Given the description of an element on the screen output the (x, y) to click on. 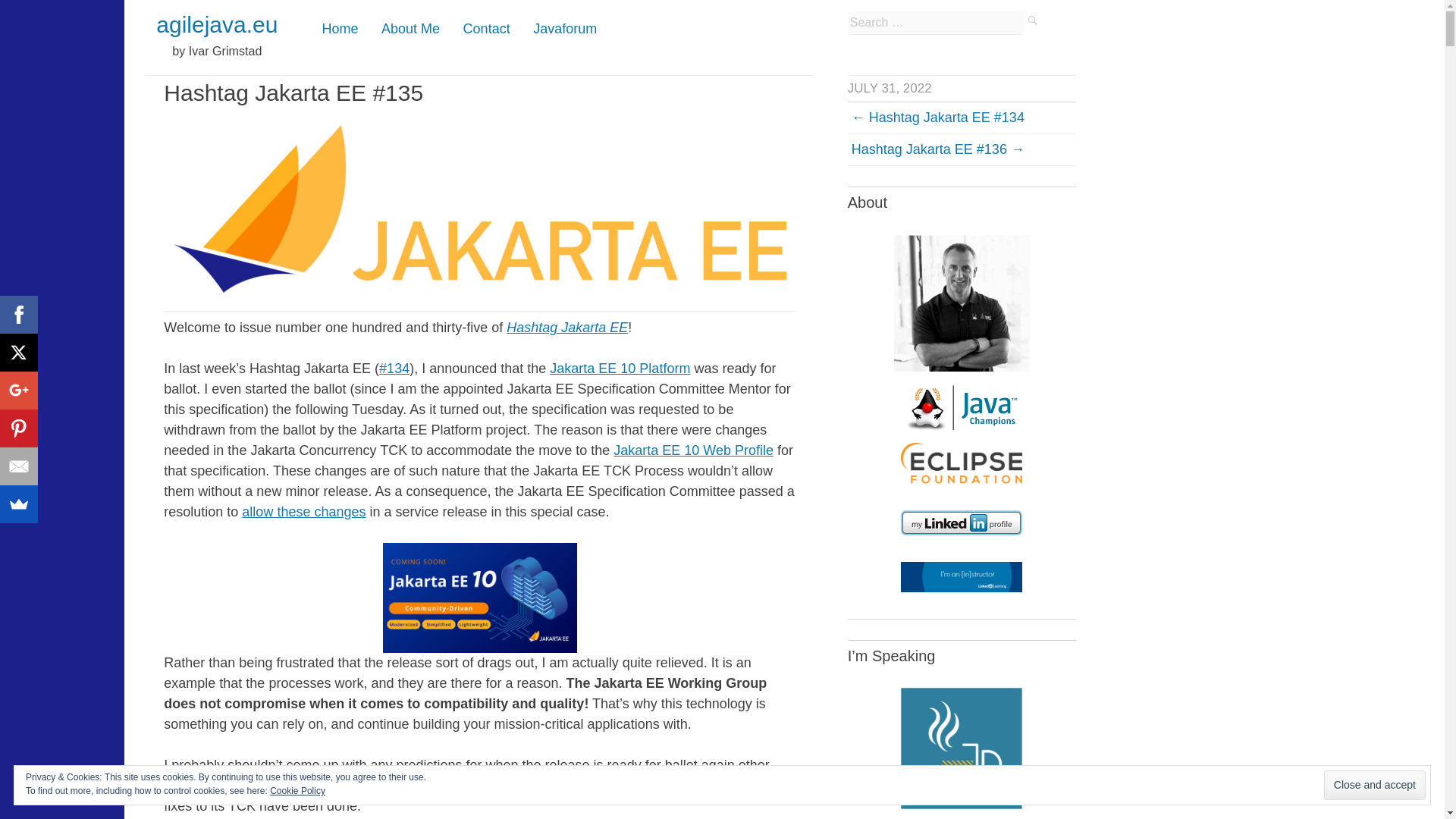
Jakarta EE 10 Platform (620, 368)
About Me (410, 28)
Pinterest (18, 428)
Javaforum (564, 28)
Hashtag Jakarta EE (566, 327)
JULY 31, 2022 (889, 88)
allow these changes (303, 511)
SumoMe (18, 504)
X (18, 352)
Close and accept (1374, 785)
Jakarta EE 10 Core Profile (374, 785)
agilejava.eu (216, 24)
Home (339, 28)
Jakarta EE 10 Web Profile (692, 450)
Contact (487, 28)
